Given the description of an element on the screen output the (x, y) to click on. 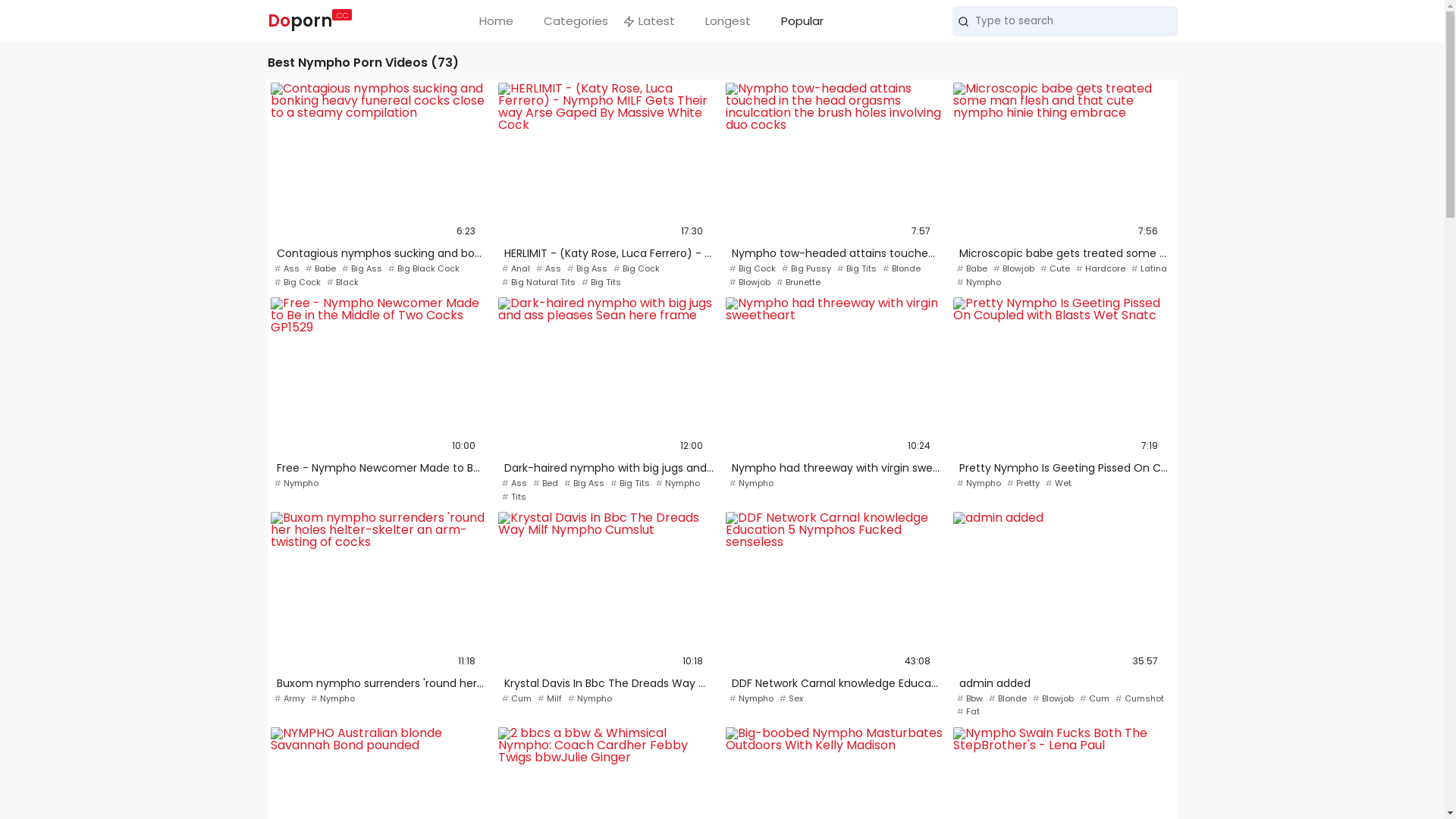
Big Ass Element type: text (584, 483)
Pretty Element type: text (1023, 483)
Nympho Element type: text (677, 483)
Longest Element type: text (720, 20)
Latest Element type: text (648, 20)
Blonde Element type: text (1007, 698)
Nympho Element type: text (589, 698)
Home Element type: text (488, 20)
Big Tits Element type: text (629, 483)
Nympho had threeway with virgin sweetheart Element type: text (835, 469)
Ass Element type: text (514, 483)
10:18 Element type: text (607, 591)
Bed Element type: text (544, 483)
Hardcore Element type: text (1099, 268)
Cum Element type: text (1094, 698)
Milf Element type: text (548, 698)
Cumshot Element type: text (1138, 698)
Blowjob Element type: text (1013, 268)
Big Cock Element type: text (297, 282)
Nympho Element type: text (751, 698)
Big Natural Tits Element type: text (538, 282)
Nympho Element type: text (332, 698)
Nympho Element type: text (979, 282)
Ass Element type: text (286, 268)
Big Cock Element type: text (752, 268)
17:30 Element type: text (607, 161)
Brunette Element type: text (798, 282)
Blonde Element type: text (901, 268)
Tits Element type: text (514, 496)
7:57 Element type: text (835, 161)
Ass Element type: text (547, 268)
7:19 Element type: text (1062, 376)
Nympho Element type: text (751, 483)
11:18 Element type: text (380, 591)
10:00 Element type: text (380, 376)
Big Cock Element type: text (635, 268)
Babe Element type: text (319, 268)
6:23 Element type: text (380, 161)
Categories Element type: text (567, 20)
Big Pussy Element type: text (805, 268)
Blowjob Element type: text (1052, 698)
Bbw Element type: text (969, 698)
admin added Element type: text (1062, 684)
Big Black Cock Element type: text (423, 268)
Cum Element type: text (516, 698)
Big Ass Element type: text (361, 268)
10:24 Element type: text (835, 376)
7:56 Element type: text (1062, 161)
Doporn
.cc Element type: text (306, 20)
35:57 Element type: text (1062, 591)
Babe Element type: text (972, 268)
Sex Element type: text (791, 698)
Anal Element type: text (516, 268)
Big Tits Element type: text (856, 268)
Nympho Element type: text (979, 483)
Latina Element type: text (1149, 268)
Krystal Davis In Bbc The Dreads Way Milf Nympho Cumslut Element type: text (607, 684)
Wet Element type: text (1057, 483)
Popular Element type: text (794, 20)
Fat Element type: text (968, 711)
Blowjob Element type: text (749, 282)
Nympho Element type: text (296, 483)
43:08 Element type: text (835, 591)
Cute Element type: text (1055, 268)
Big Tits Element type: text (600, 282)
Big Ass Element type: text (587, 268)
Black Element type: text (341, 282)
Army Element type: text (289, 698)
Search X Videos Element type: hover (1064, 21)
12:00 Element type: text (607, 376)
